Given the description of an element on the screen output the (x, y) to click on. 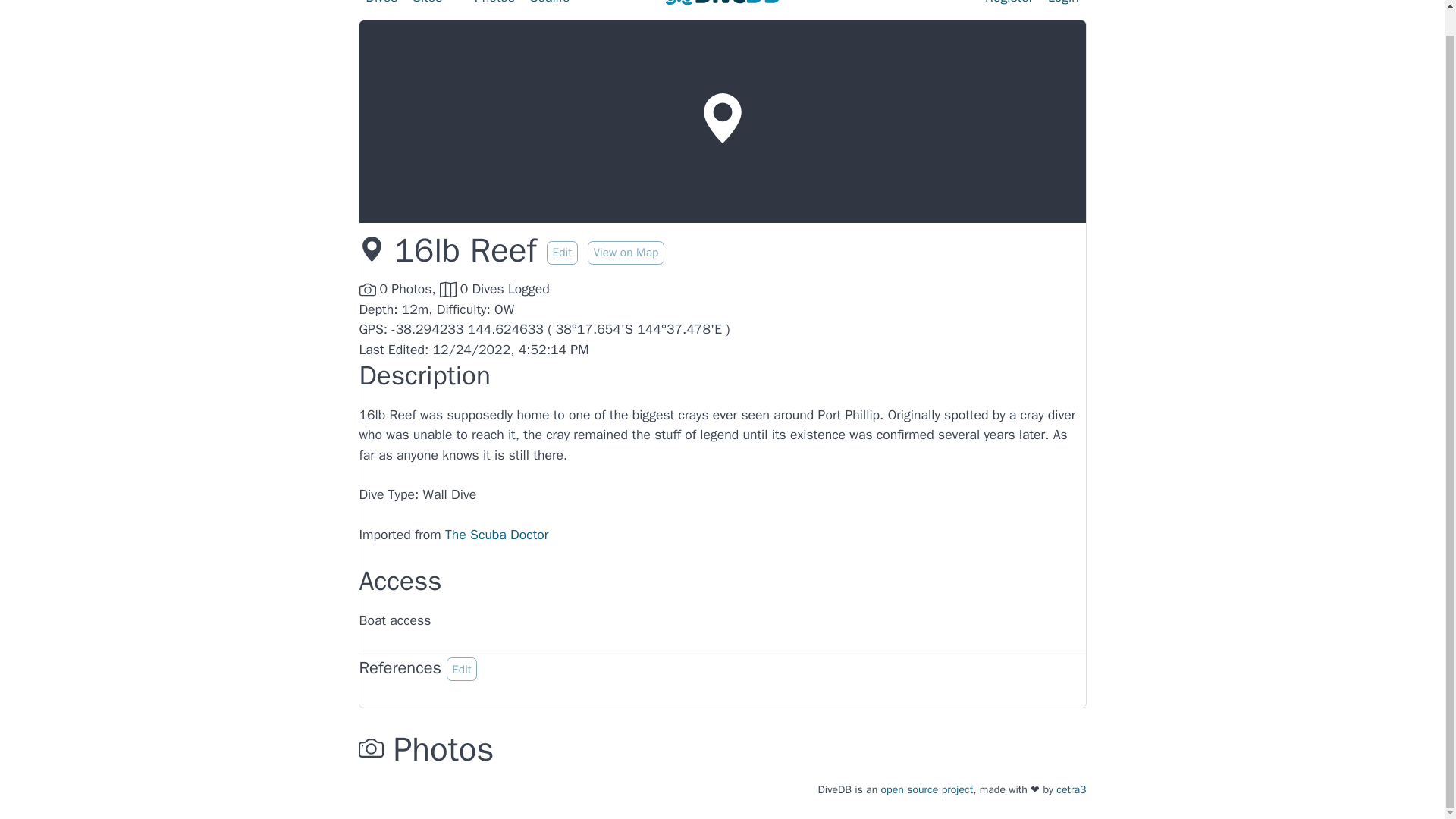
View on Map (625, 252)
Edit (461, 668)
Photos (494, 6)
Register (1008, 6)
open source project (927, 789)
Edit (562, 252)
Sealife (550, 6)
The Scuba Doctor (496, 534)
0 photos taken at 16lb Reef (399, 288)
Sites (435, 6)
